Given the description of an element on the screen output the (x, y) to click on. 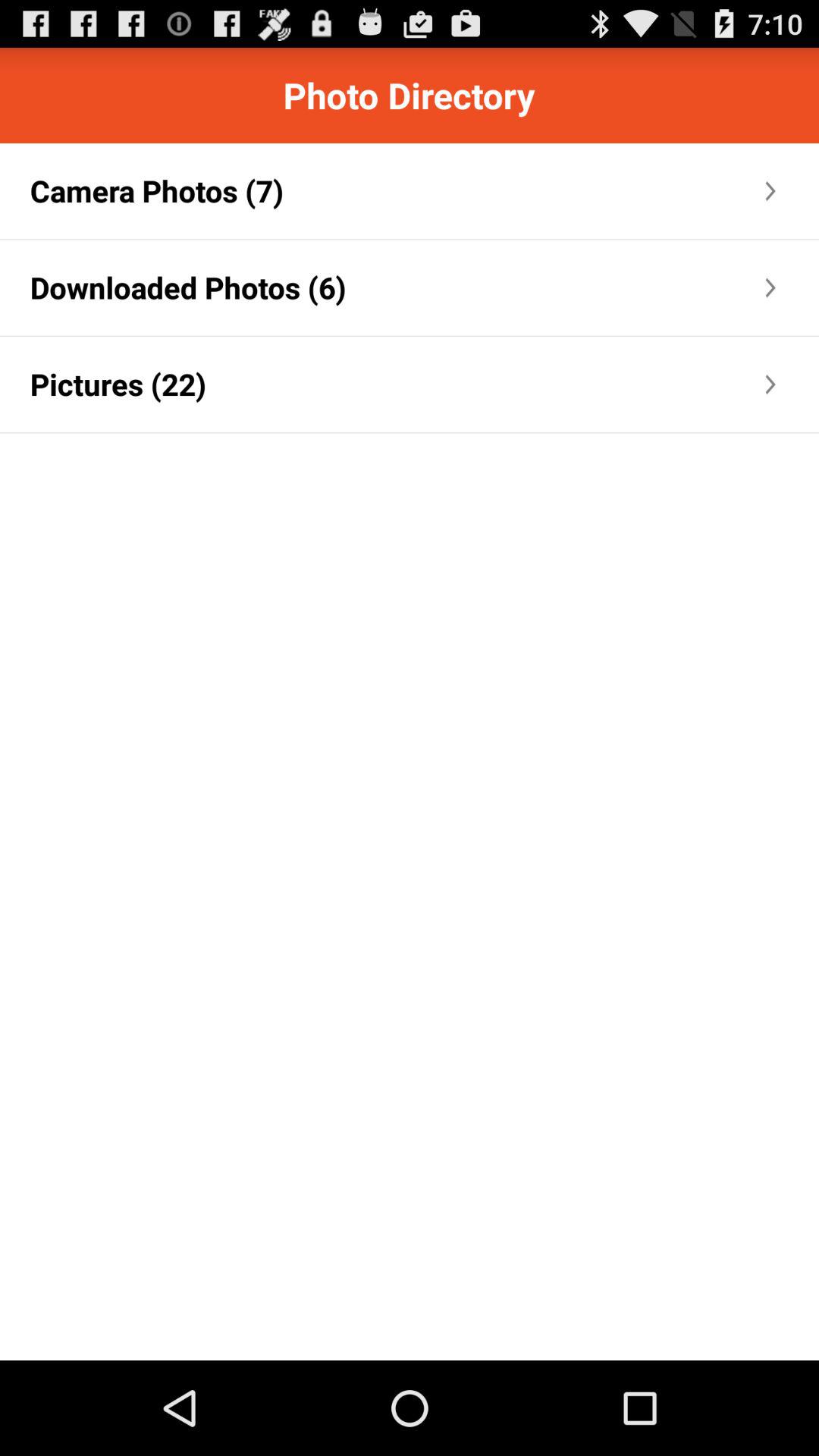
click the icon next to the pictures (22) icon (484, 384)
